Given the description of an element on the screen output the (x, y) to click on. 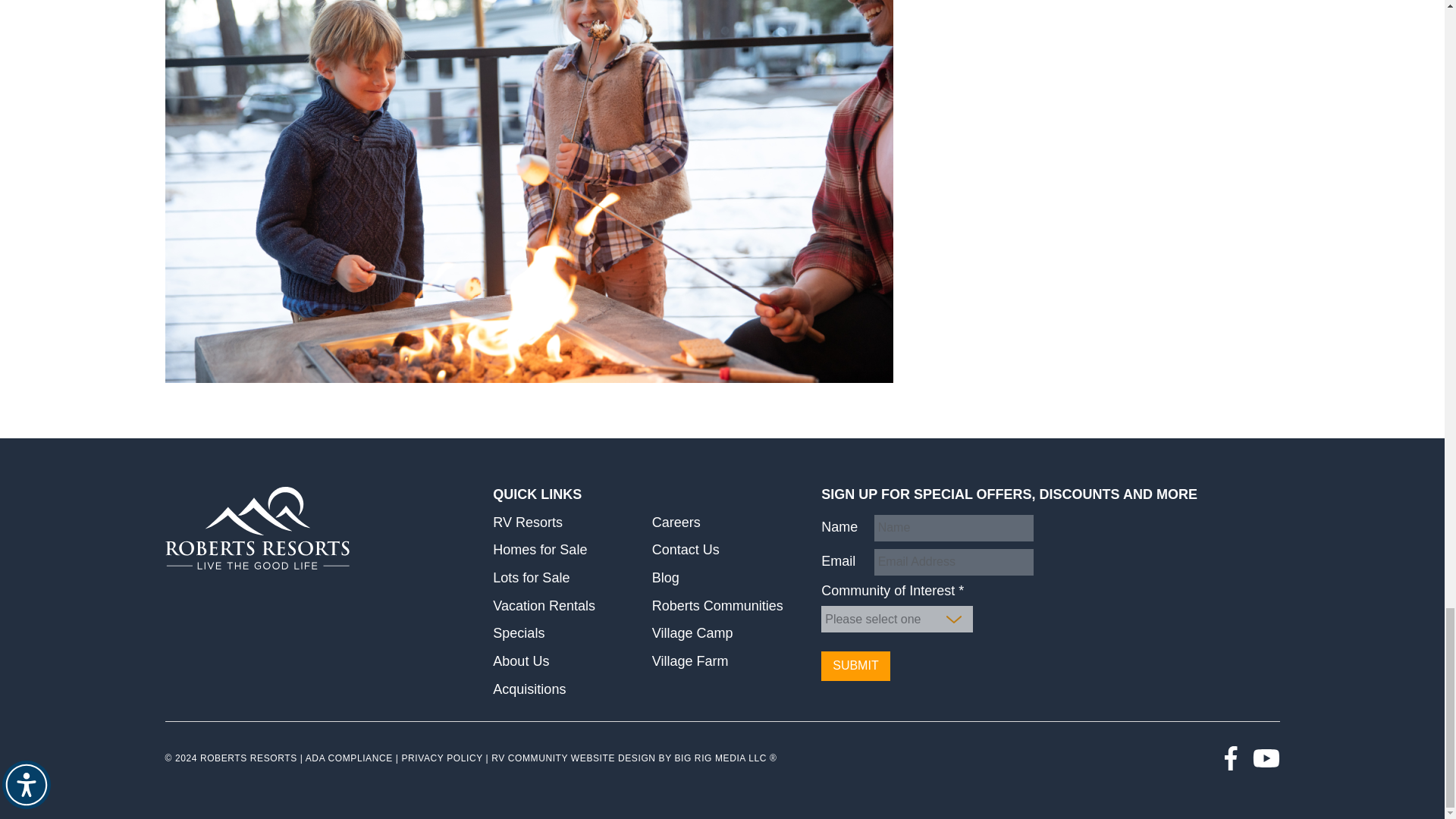
Homes for Sale (539, 549)
About Us (520, 661)
Blog (665, 577)
Contact Us (685, 549)
RV Resorts (527, 522)
Specials (518, 632)
Roberts Communities (717, 605)
Lots for Sale (531, 577)
Check Us Out on Youtube (1265, 758)
Acquisitions (529, 688)
Vacation Rentals (544, 605)
Careers (676, 522)
